Given the description of an element on the screen output the (x, y) to click on. 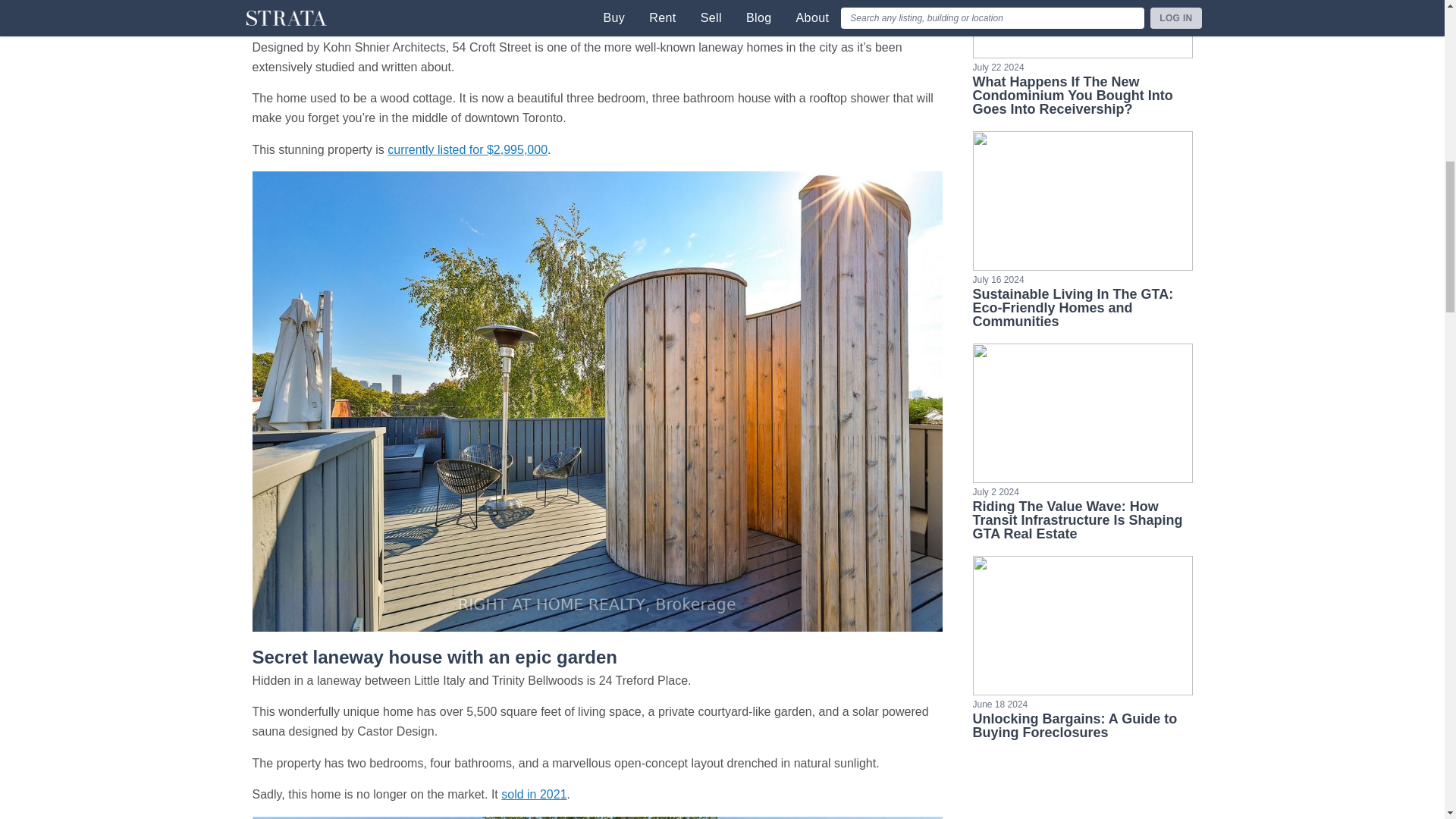
sold in 2021 (533, 793)
